Given the description of an element on the screen output the (x, y) to click on. 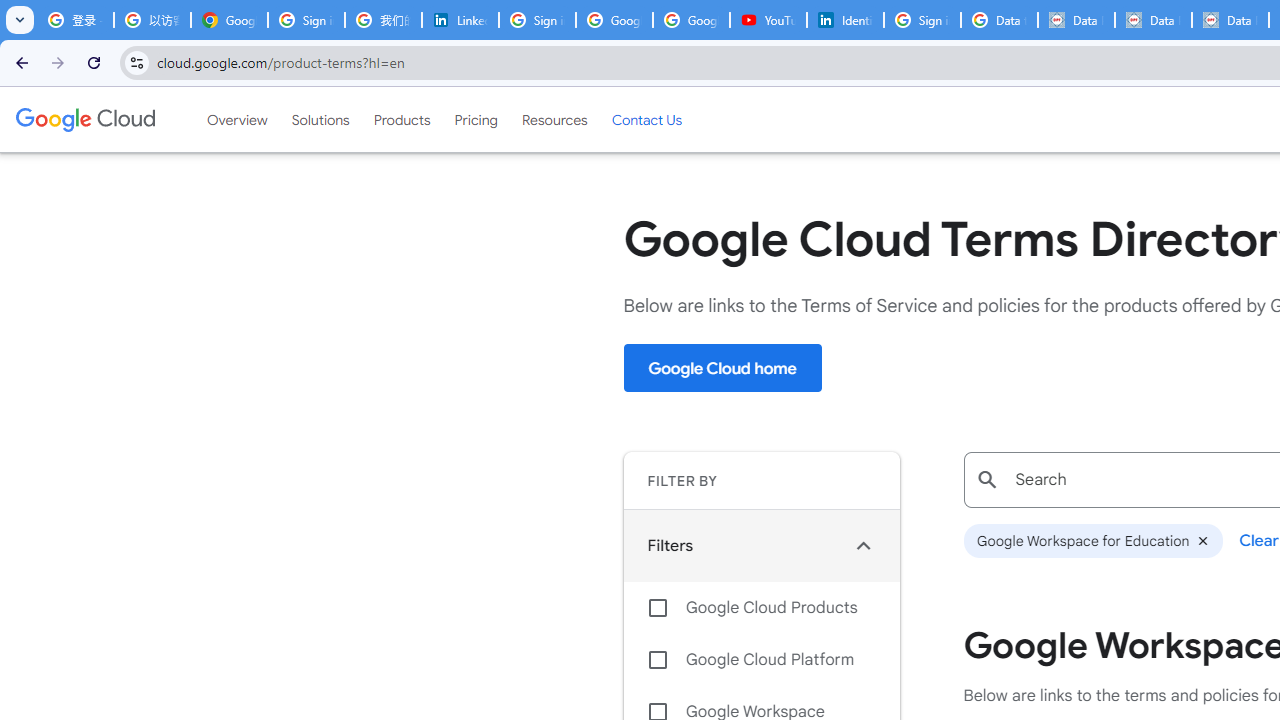
Sign in - Google Accounts (537, 20)
